Given the description of an element on the screen output the (x, y) to click on. 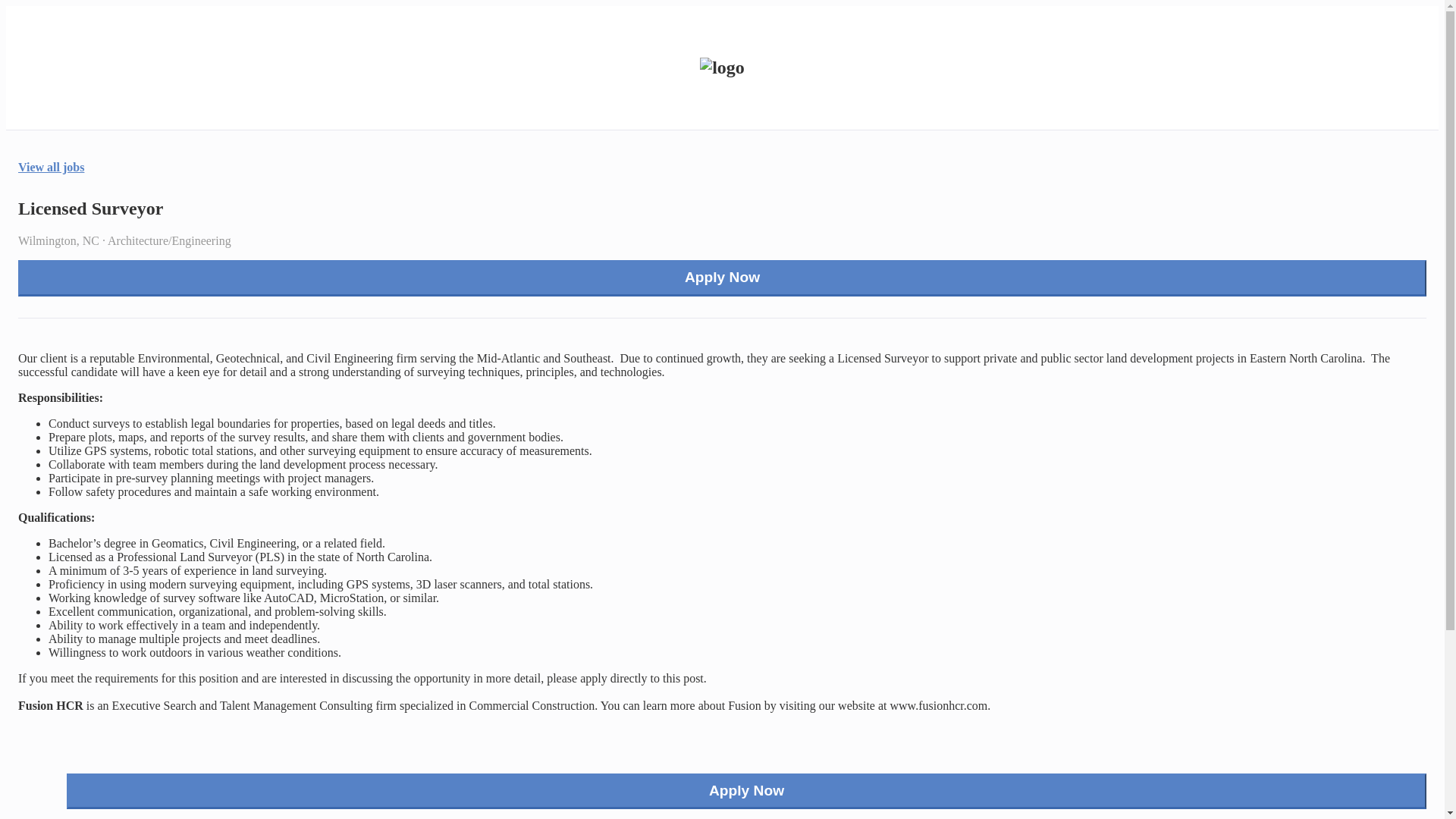
View all jobs (50, 167)
Apply Now (746, 791)
Apply Now (721, 278)
